Given the description of an element on the screen output the (x, y) to click on. 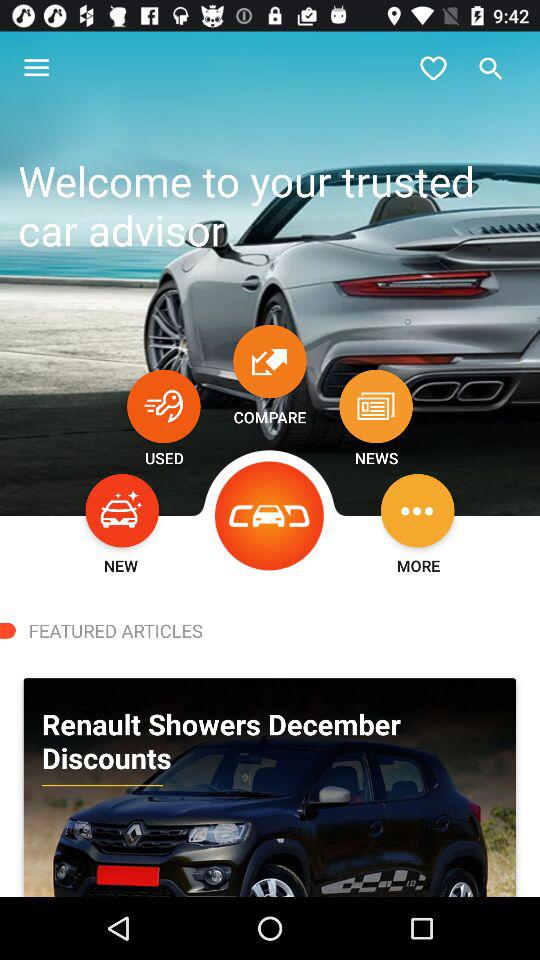
turn on icon above compare (269, 361)
